Given the description of an element on the screen output the (x, y) to click on. 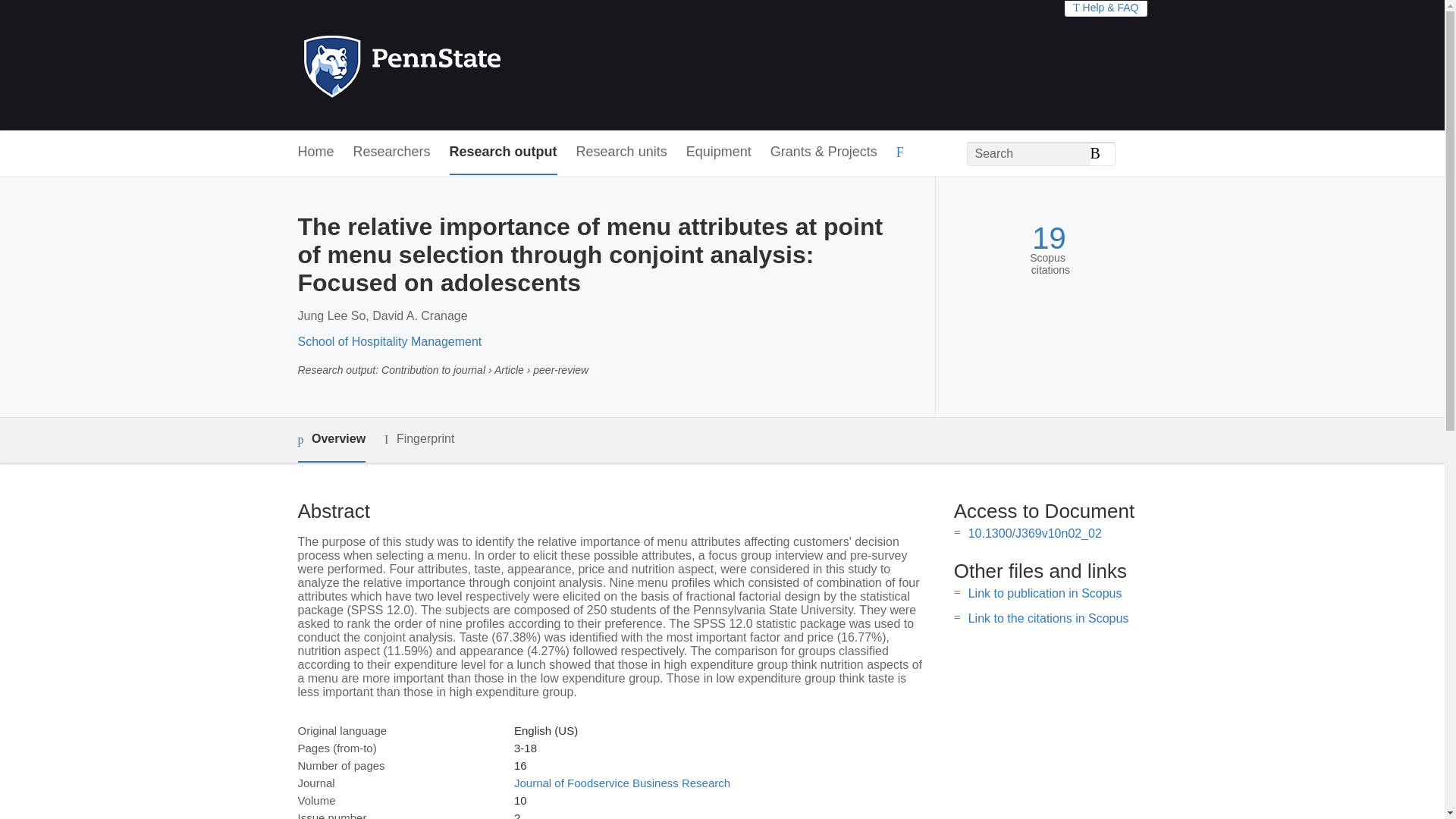
Equipment (718, 152)
Research units (621, 152)
Research output (503, 152)
School of Hospitality Management (389, 341)
Journal of Foodservice Business Research (621, 782)
19 (1048, 238)
Link to the citations in Scopus (1048, 617)
Fingerprint (419, 439)
Penn State Home (467, 65)
Overview (331, 439)
Researchers (391, 152)
Link to publication in Scopus (1045, 593)
